Given the description of an element on the screen output the (x, y) to click on. 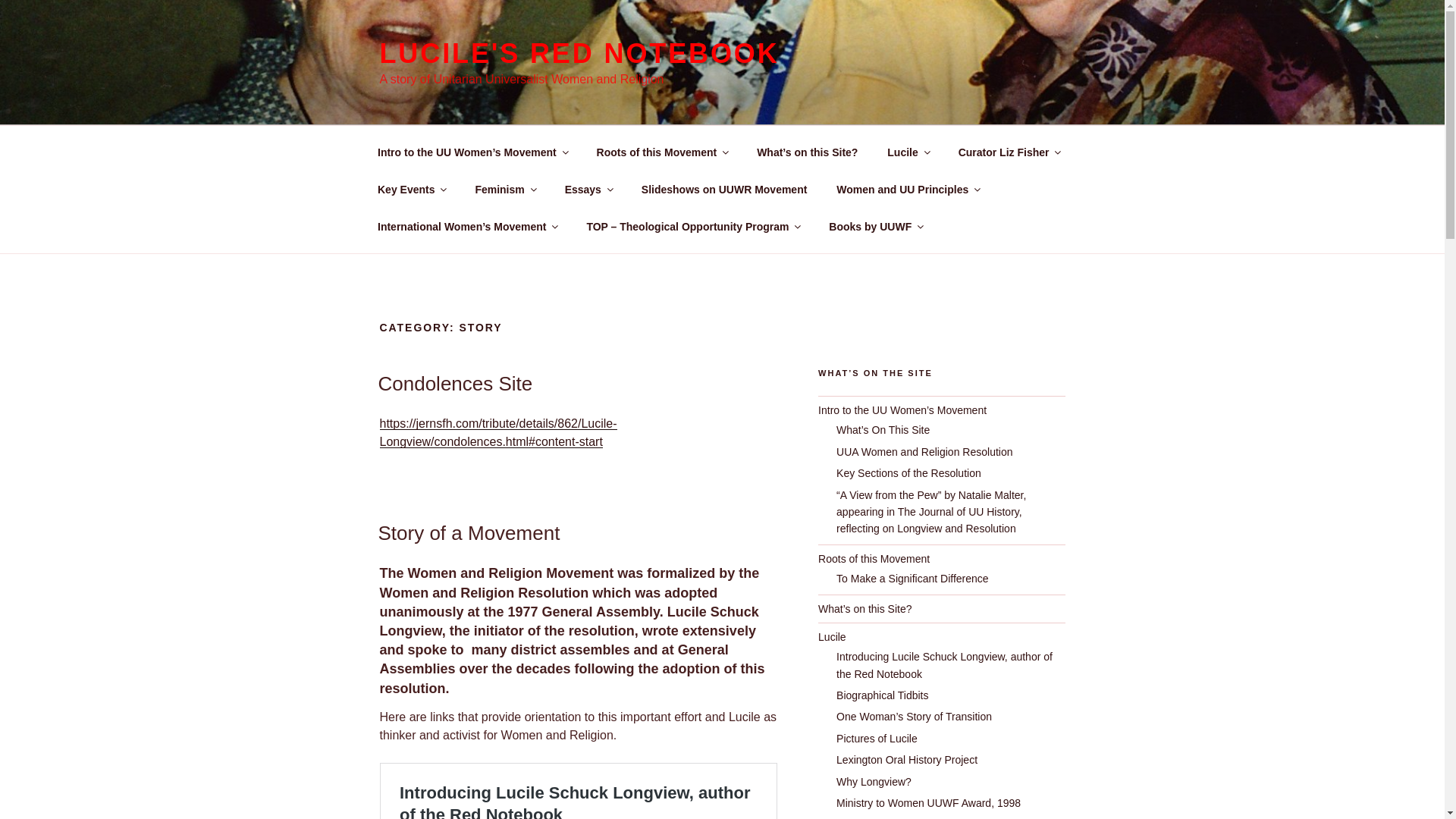
Roots of this Movement (662, 151)
Lucile (908, 151)
LUCILE'S RED NOTEBOOK (578, 52)
Curator Liz Fisher (1008, 151)
Feminism (504, 189)
Key Events (411, 189)
